Given the description of an element on the screen output the (x, y) to click on. 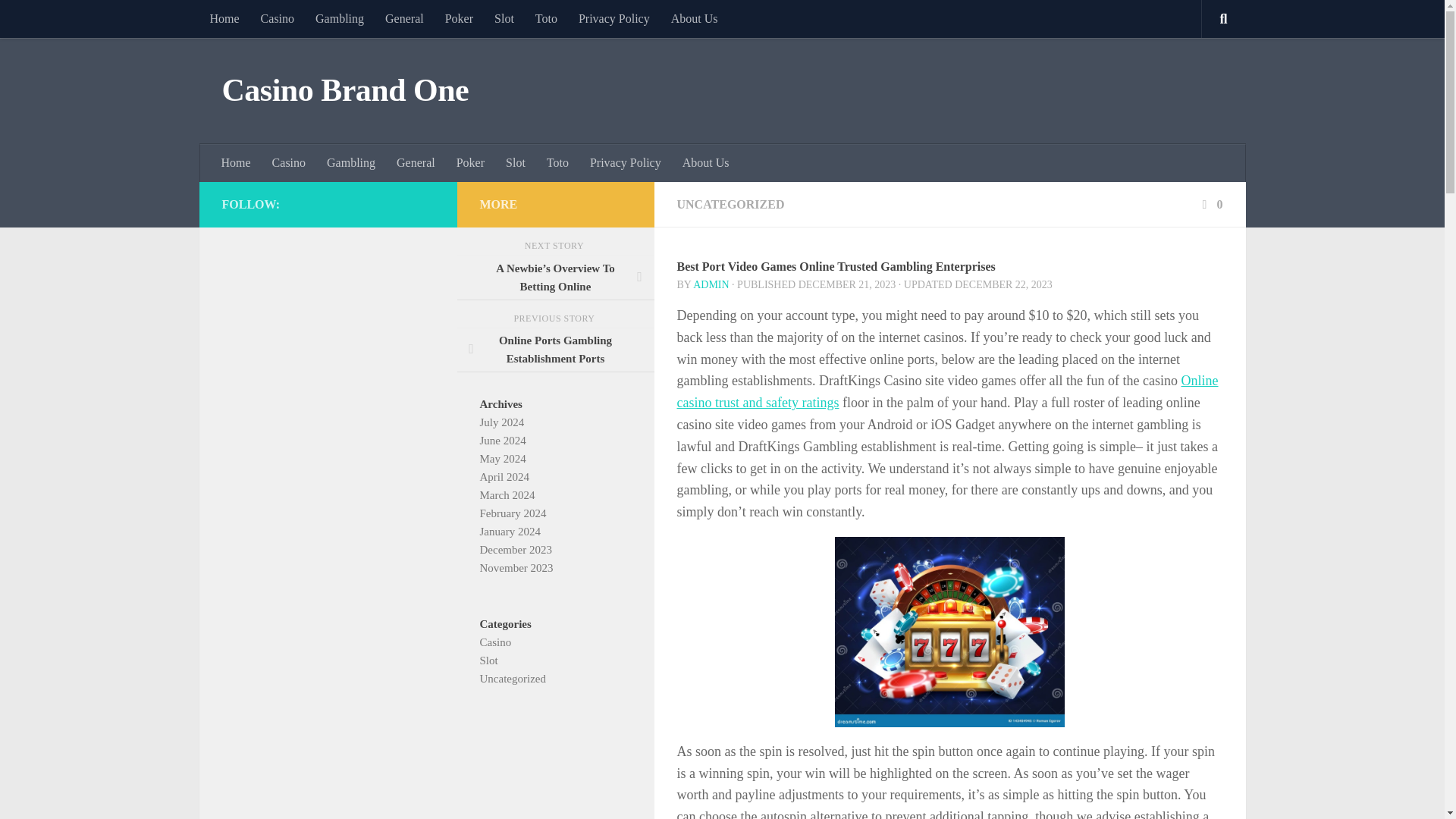
ADMIN (711, 284)
Poker (470, 162)
Slot (503, 18)
General (415, 162)
Casino (277, 18)
Poker (458, 18)
About Us (705, 162)
UNCATEGORIZED (730, 204)
Skip to content (59, 20)
Privacy Policy (614, 18)
Casino Brand One (344, 90)
Home (236, 162)
Toto (557, 162)
Casino (288, 162)
Gambling (350, 162)
